Given the description of an element on the screen output the (x, y) to click on. 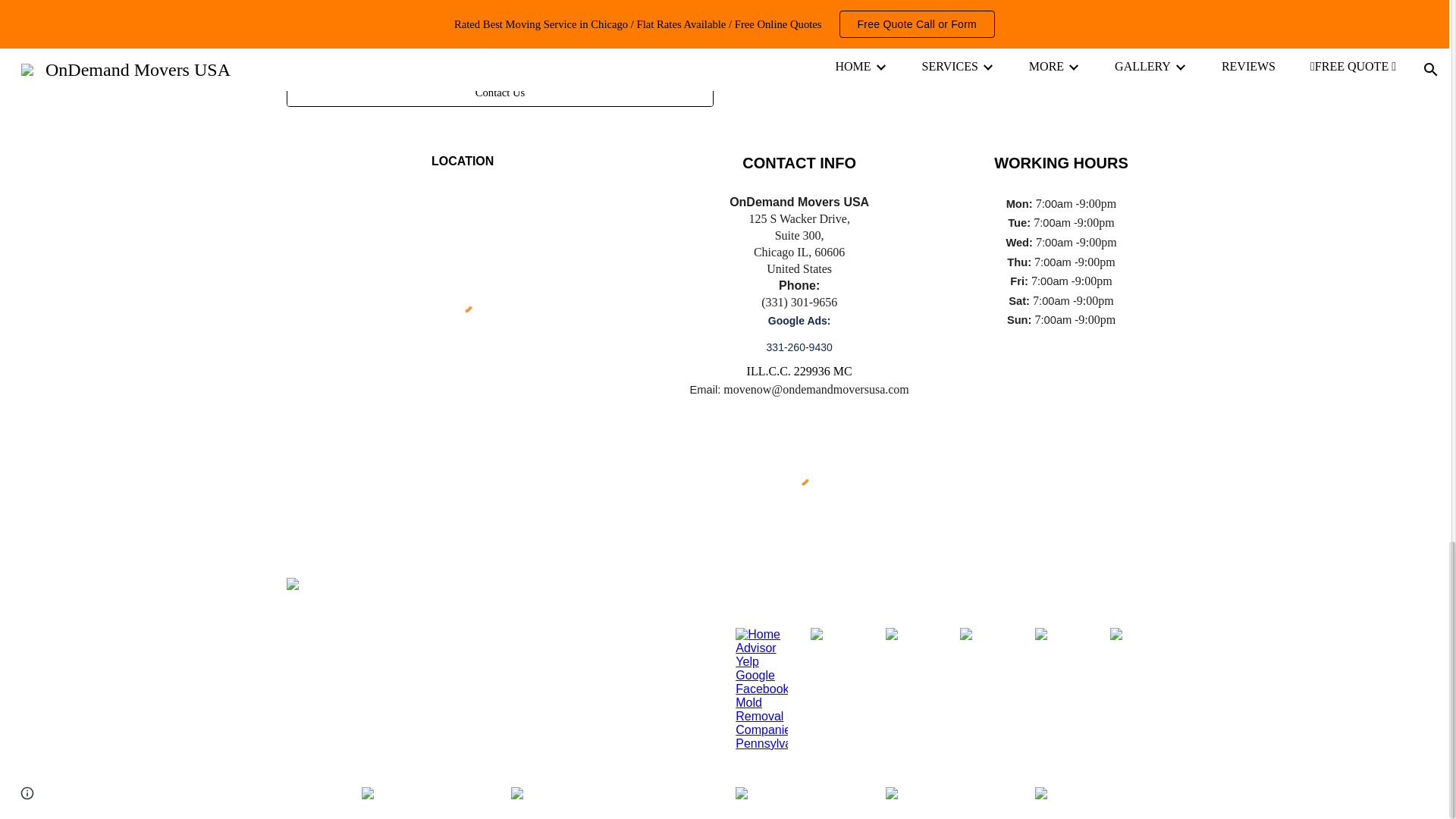
Custom embed (799, 475)
Custom embed (462, 302)
